Given the description of an element on the screen output the (x, y) to click on. 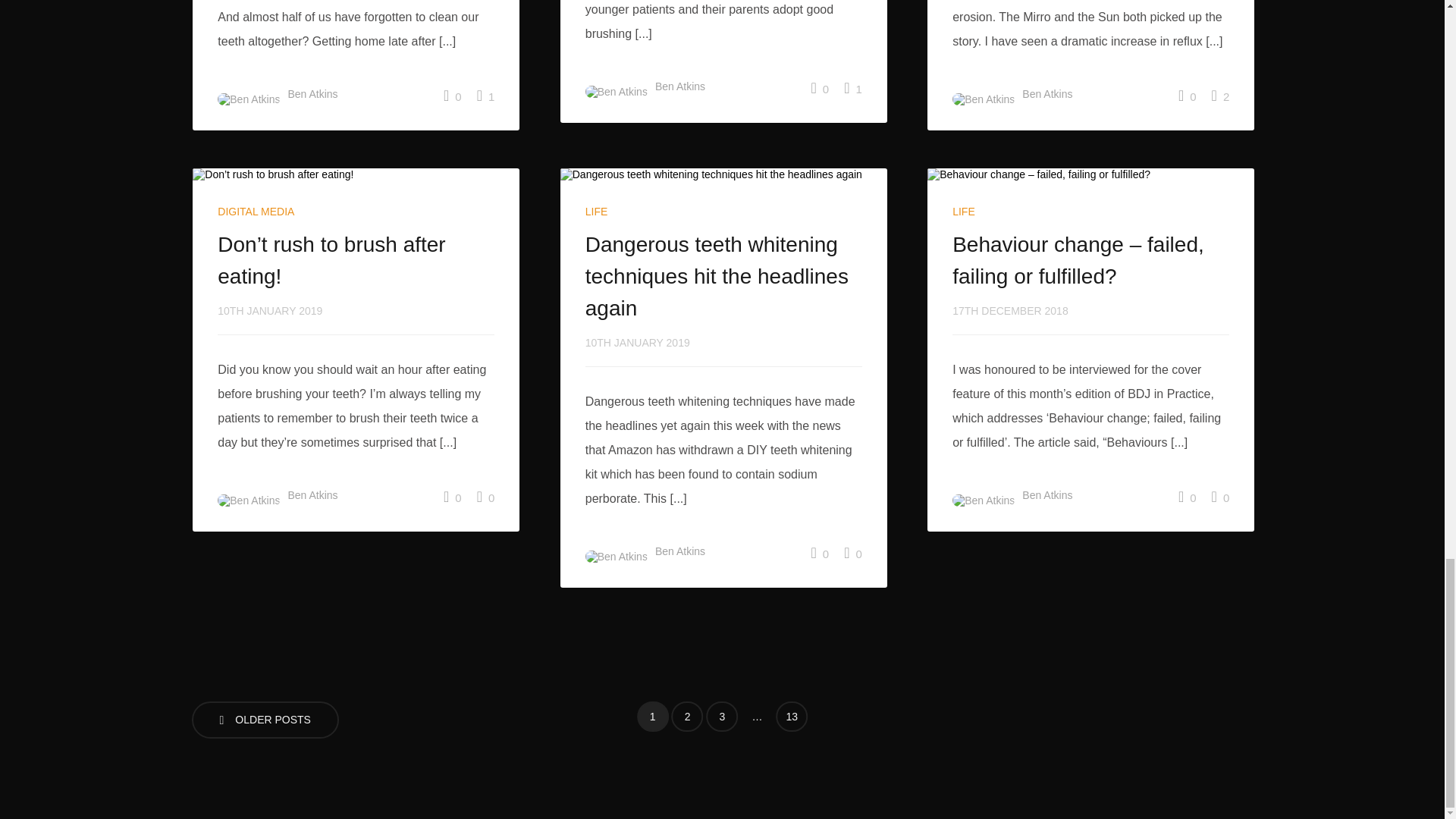
Like (852, 87)
Like (486, 95)
Like (1220, 95)
Like (486, 496)
Like (852, 552)
Like (1220, 496)
